Given the description of an element on the screen output the (x, y) to click on. 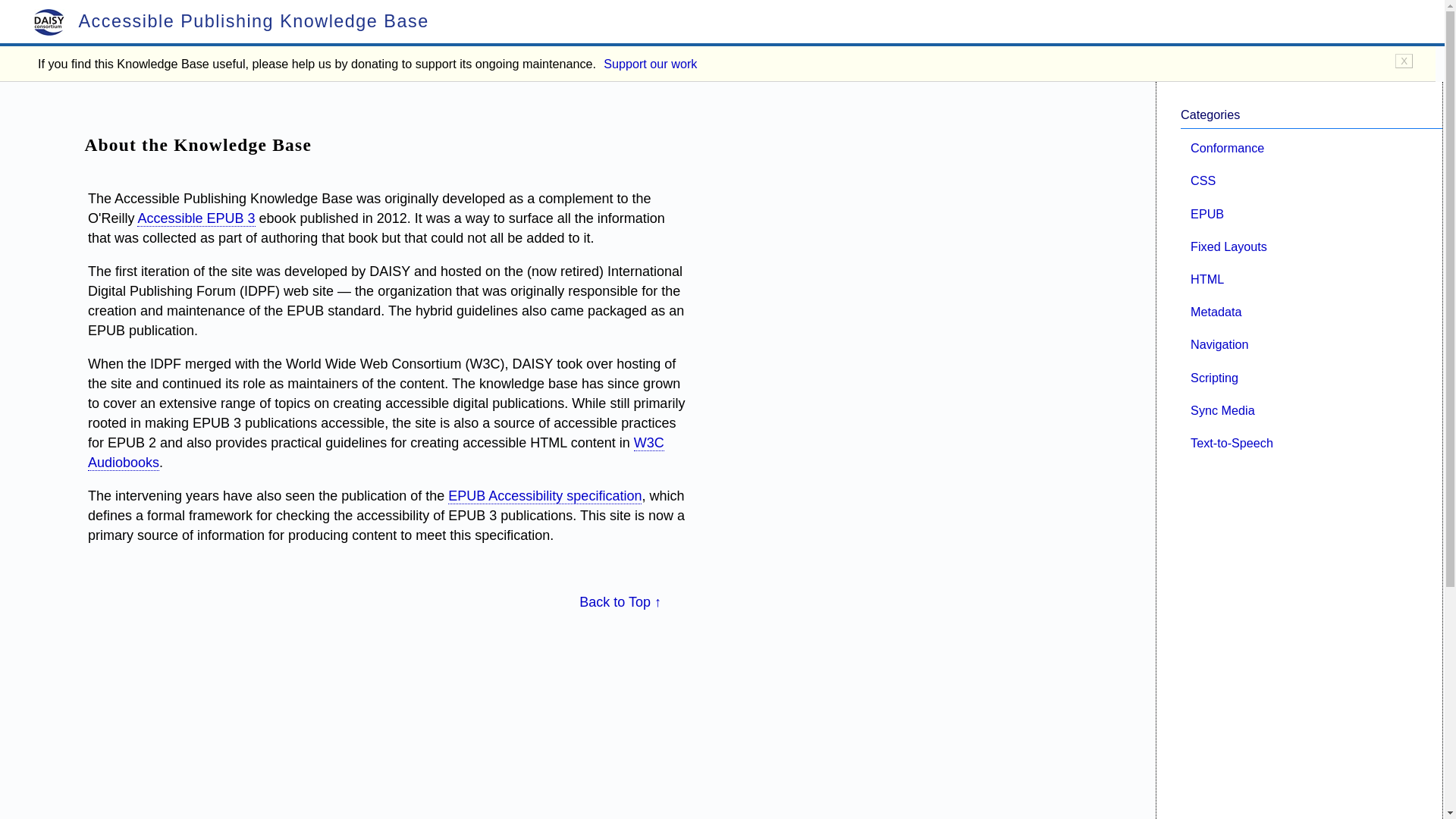
Support our work (650, 63)
Conformance (1227, 147)
CSS (1203, 180)
Navigation (1220, 344)
Accessible EPUB 3 (195, 218)
W3C Audiobooks (375, 452)
Close (1403, 60)
HTML (1207, 278)
Scripting (1215, 377)
X (1403, 60)
